Given the description of an element on the screen output the (x, y) to click on. 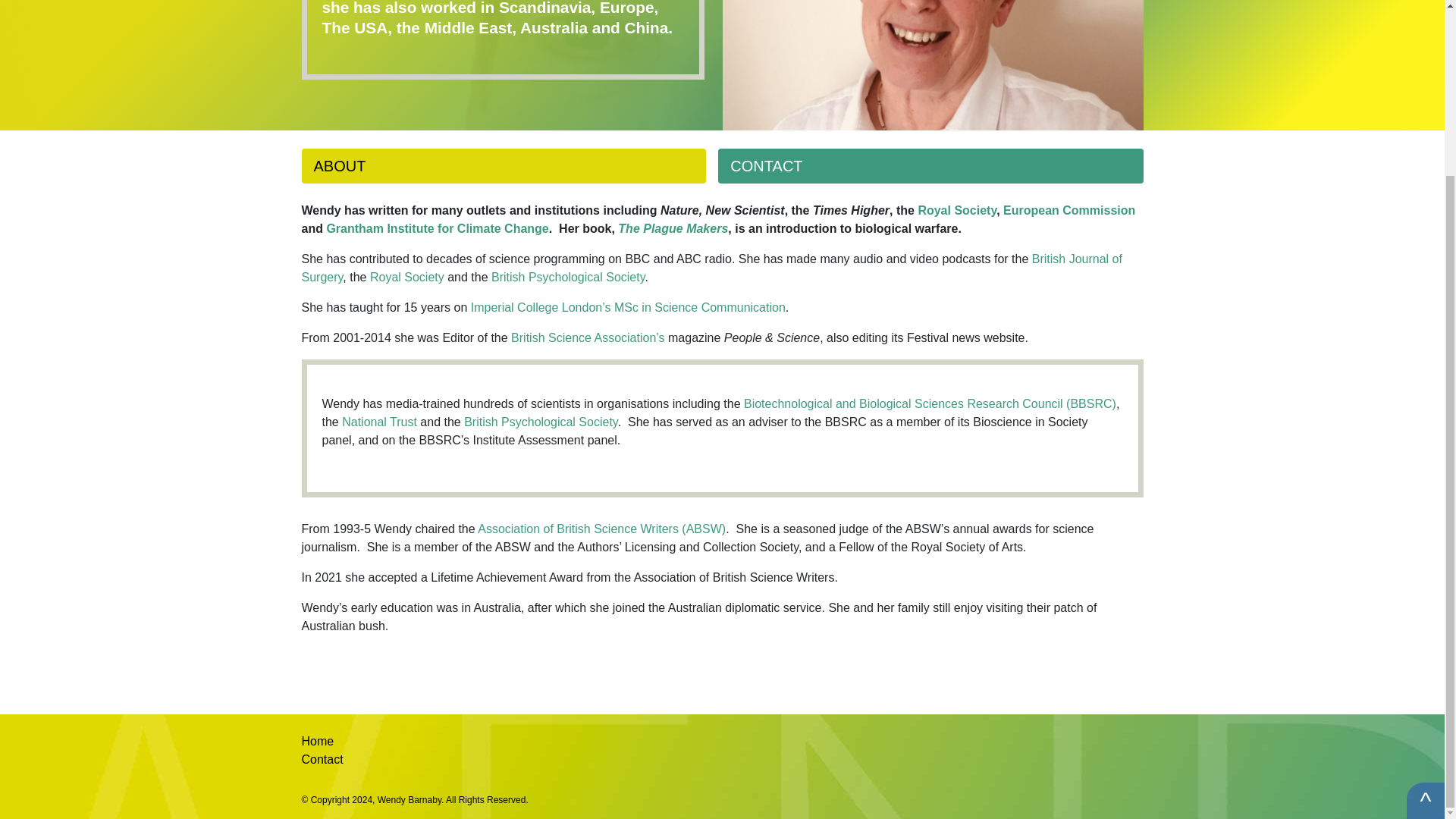
British Journal of Surgery (711, 267)
British Psychological Society (540, 421)
ABOUT (503, 165)
Contact (322, 758)
European Commission (1069, 210)
Grantham Institute for Climate Change (437, 228)
Home (317, 740)
Royal Society (956, 210)
The Plague Makers (672, 228)
National Trust (379, 421)
British Psychological Society (568, 277)
Royal Society (406, 277)
CONTACT (929, 165)
